Given the description of an element on the screen output the (x, y) to click on. 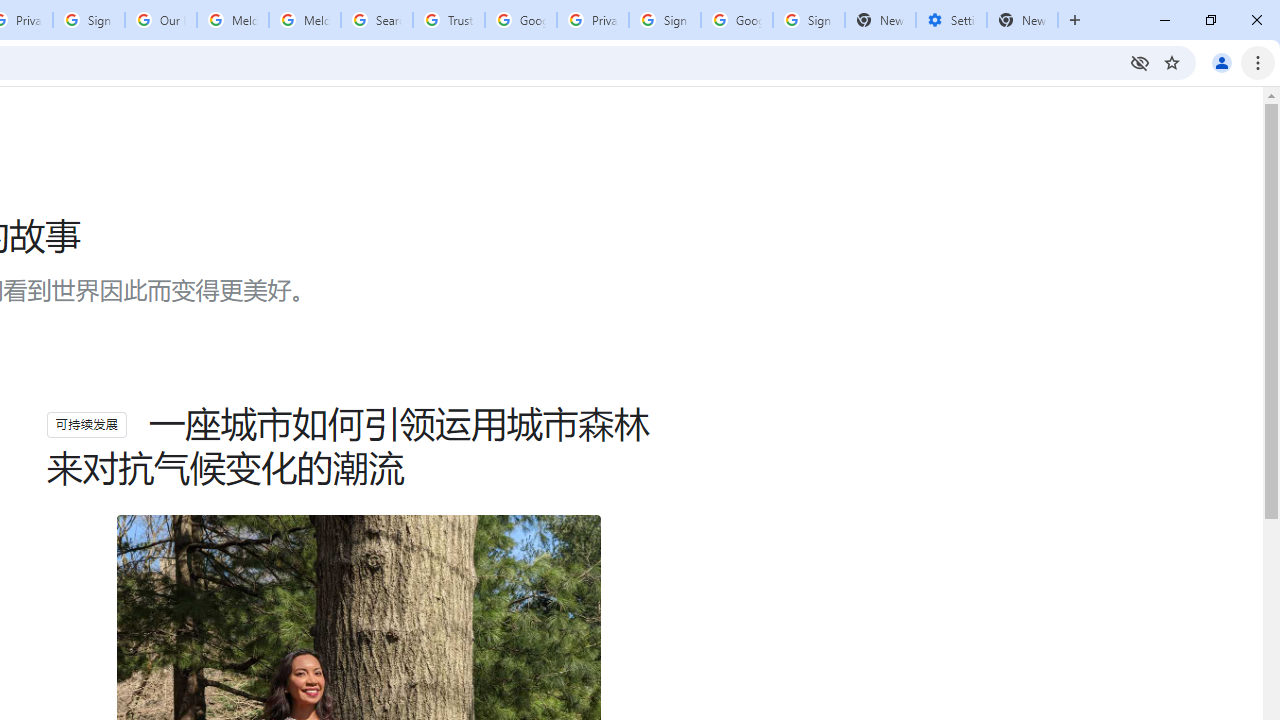
Sign in - Google Accounts (88, 20)
Google Ads - Sign in (520, 20)
Sign in - Google Accounts (664, 20)
Settings - Addresses and more (951, 20)
Trusted Information and Content - Google Safety Center (449, 20)
Search our Doodle Library Collection - Google Doodles (376, 20)
